Given the description of an element on the screen output the (x, y) to click on. 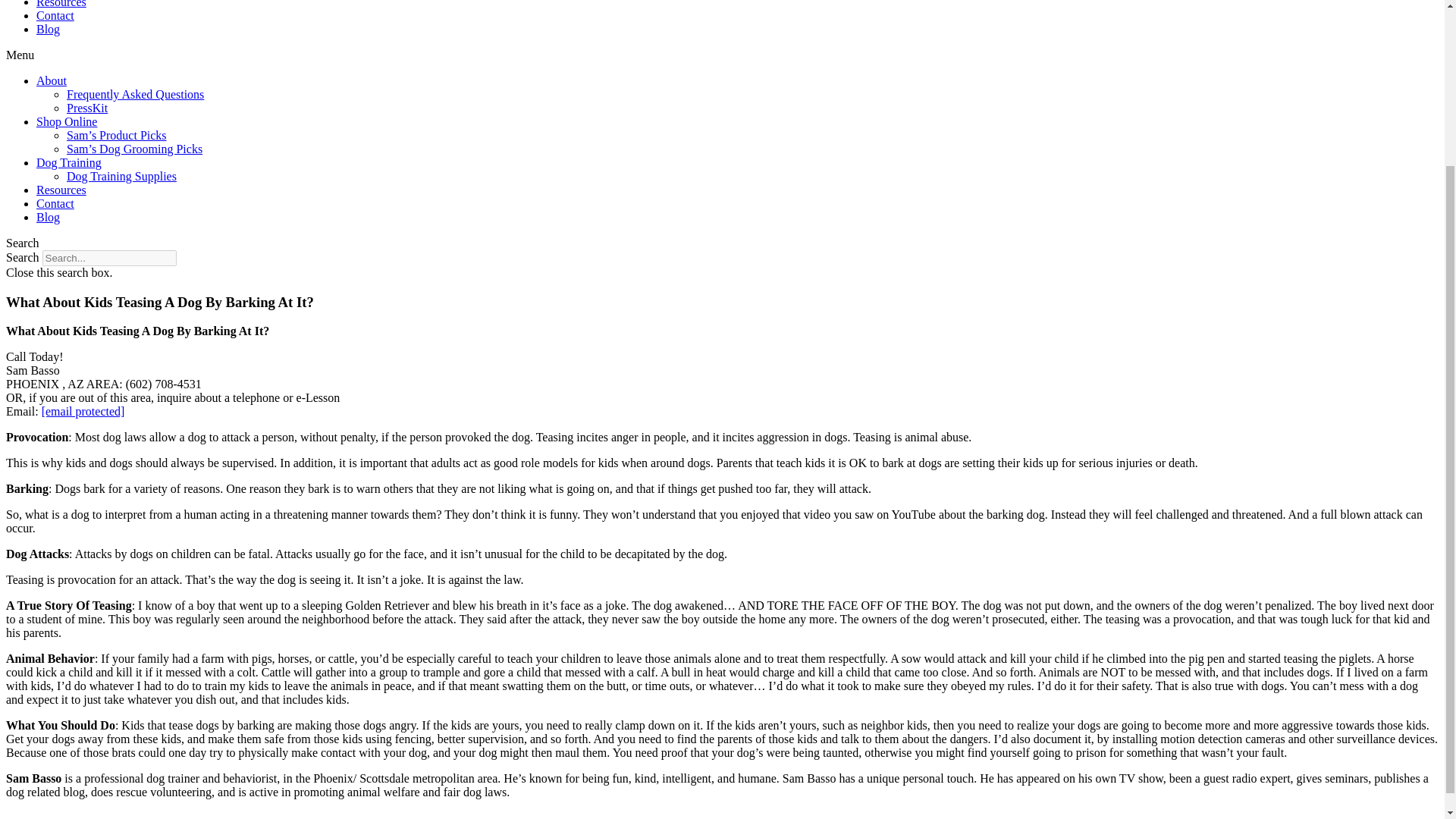
Contact (55, 15)
Shop Online (66, 121)
Contact (55, 203)
PressKit (86, 107)
Blog (47, 29)
Dog Training Supplies (121, 175)
Frequently Asked Questions (134, 93)
Resources (60, 4)
Resources (60, 189)
About (51, 80)
